Given the description of an element on the screen output the (x, y) to click on. 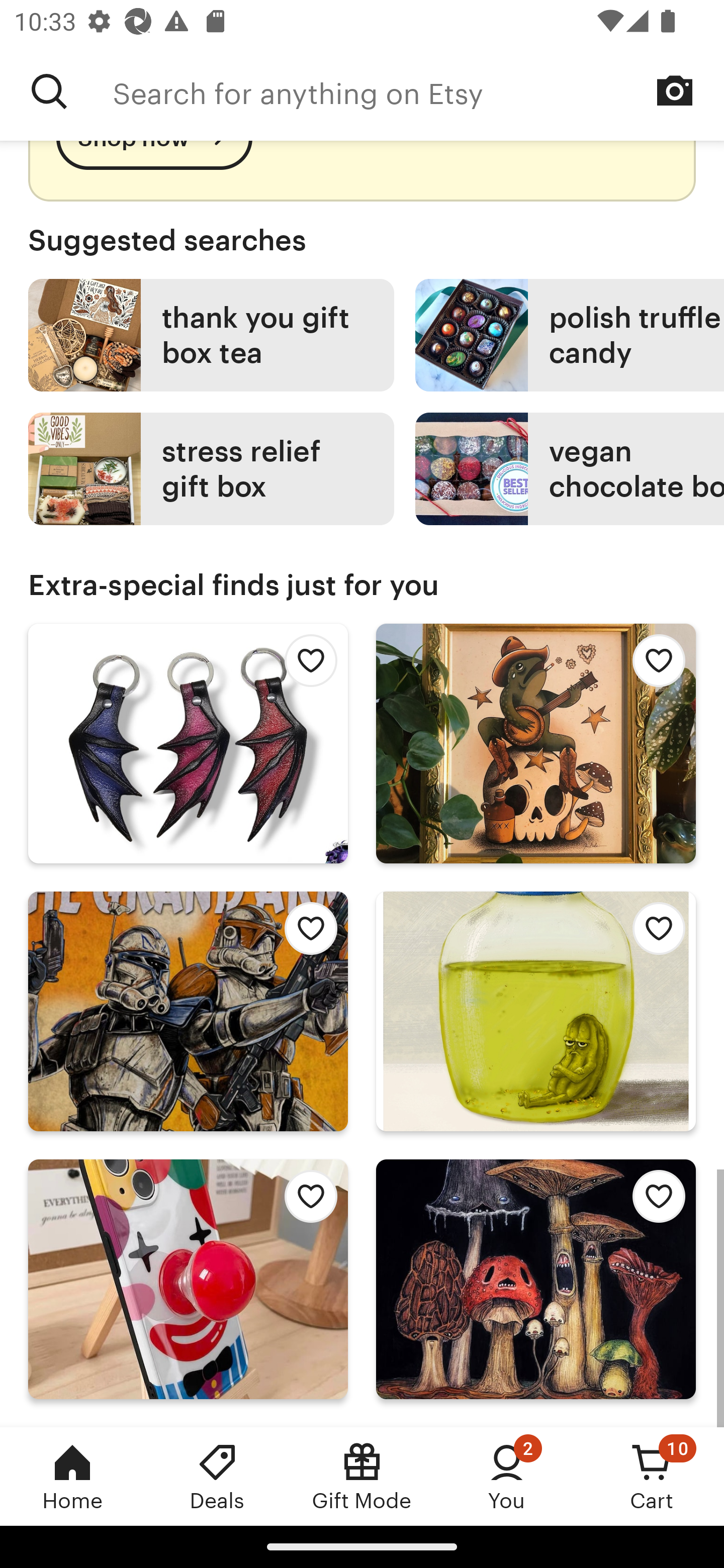
Search for anything on Etsy (49, 91)
Search by image (674, 90)
Search for anything on Etsy (418, 91)
Suggested searches (362, 240)
thank you gift box tea (210, 335)
polish truffle candy (569, 335)
stress relief gift box (210, 468)
vegan chocolate box (569, 468)
Add Lonely Cowboy Print to favorites (653, 666)
Deals (216, 1475)
Gift Mode (361, 1475)
You, 2 new notifications You (506, 1475)
Cart, 10 new notifications Cart (651, 1475)
